Given the description of an element on the screen output the (x, y) to click on. 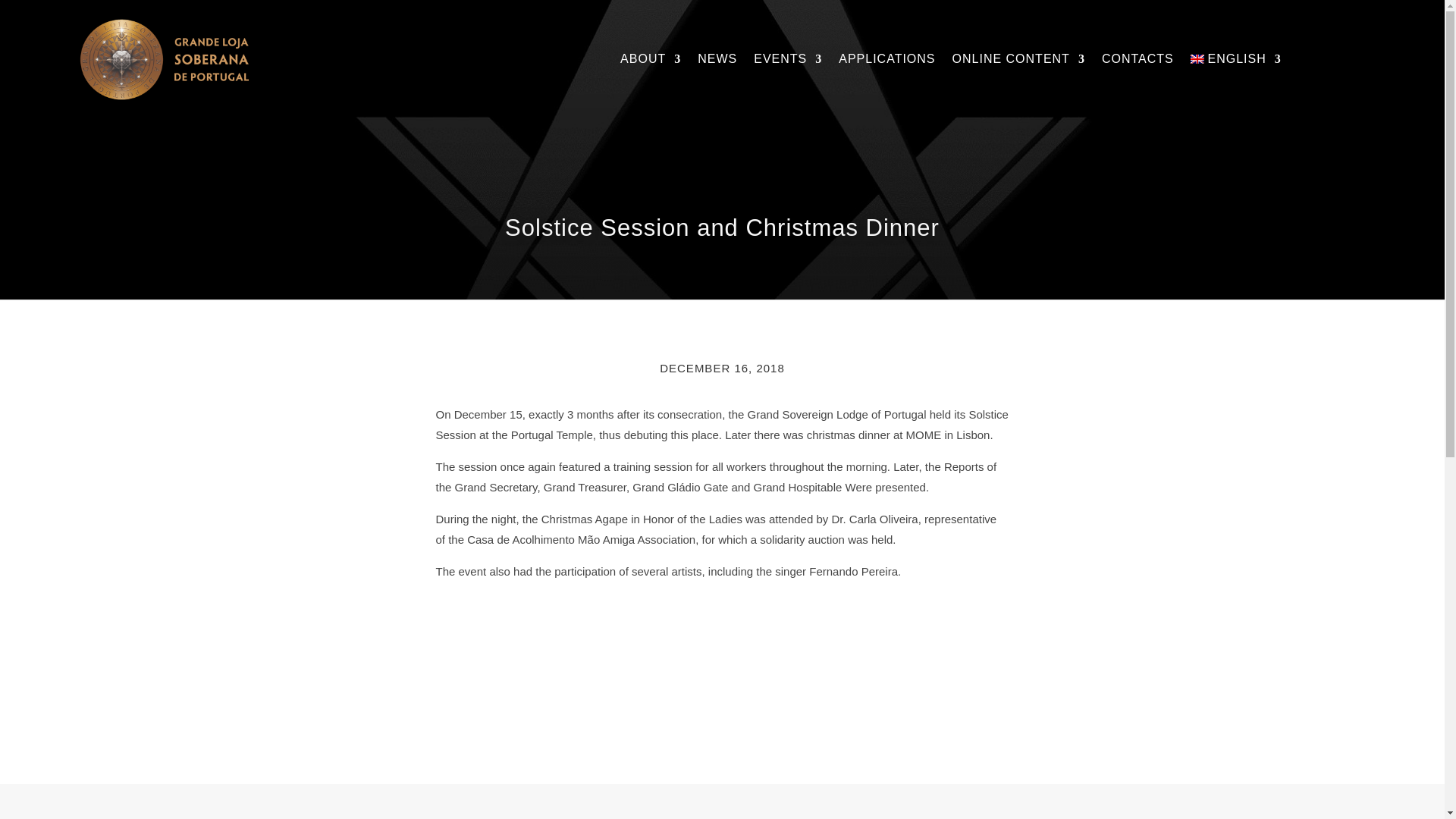
ONLINE CONTENT (1018, 59)
